Given the description of an element on the screen output the (x, y) to click on. 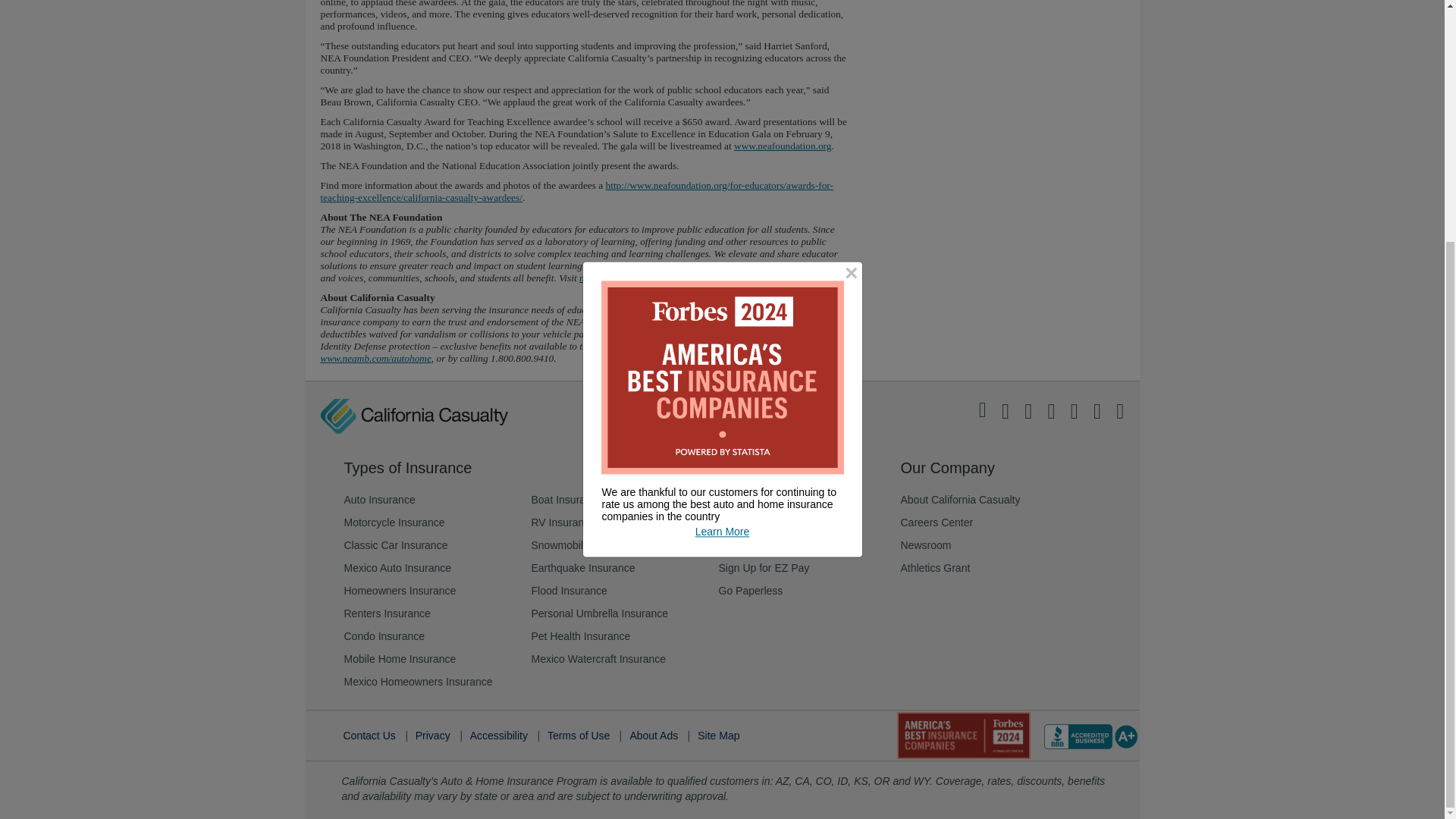
California Casualty (413, 415)
